Given the description of an element on the screen output the (x, y) to click on. 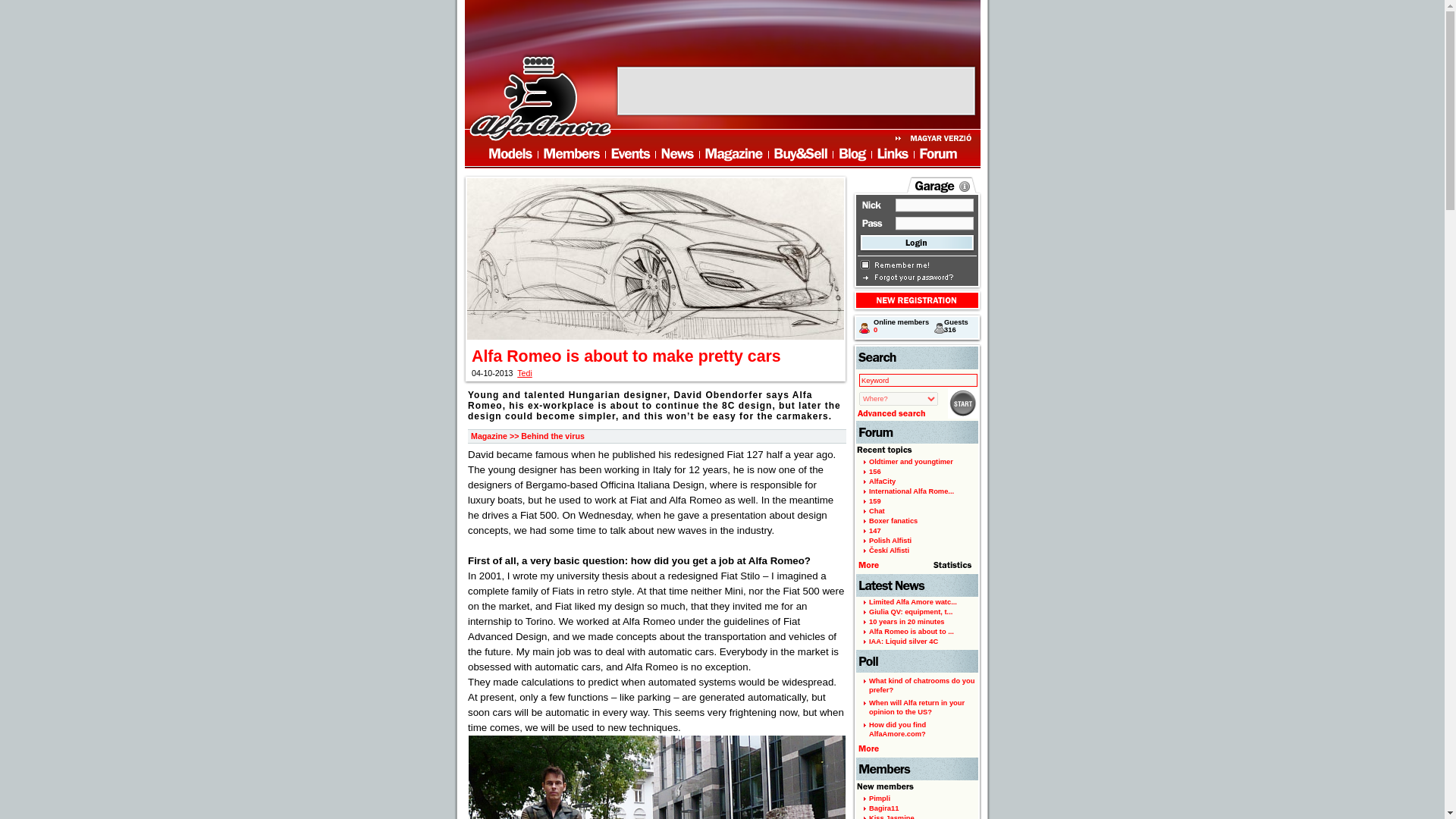
Login (917, 242)
Links (893, 154)
Alfa Romeo is about to ... (911, 631)
Advertisement (796, 90)
Members (571, 154)
Polish Alfisti (890, 540)
Search (962, 403)
159 (874, 501)
Tedi (524, 372)
Info (964, 186)
Forum (917, 431)
Lost password (914, 277)
Chat (877, 510)
156 (874, 471)
10 years in 20 minutes (906, 621)
